Given the description of an element on the screen output the (x, y) to click on. 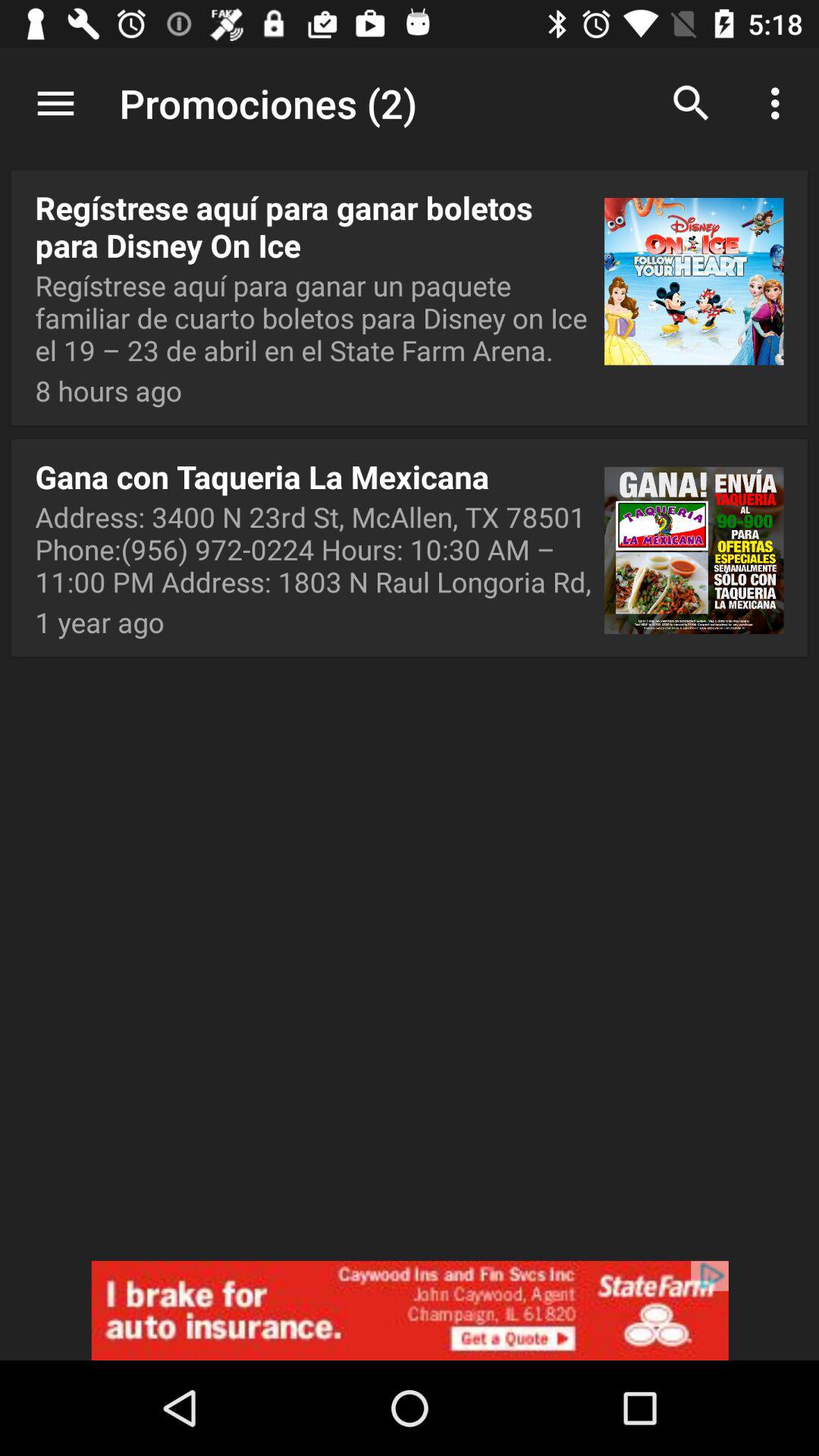
click on the search icon on the top right corner of the web page (691, 103)
